Given the description of an element on the screen output the (x, y) to click on. 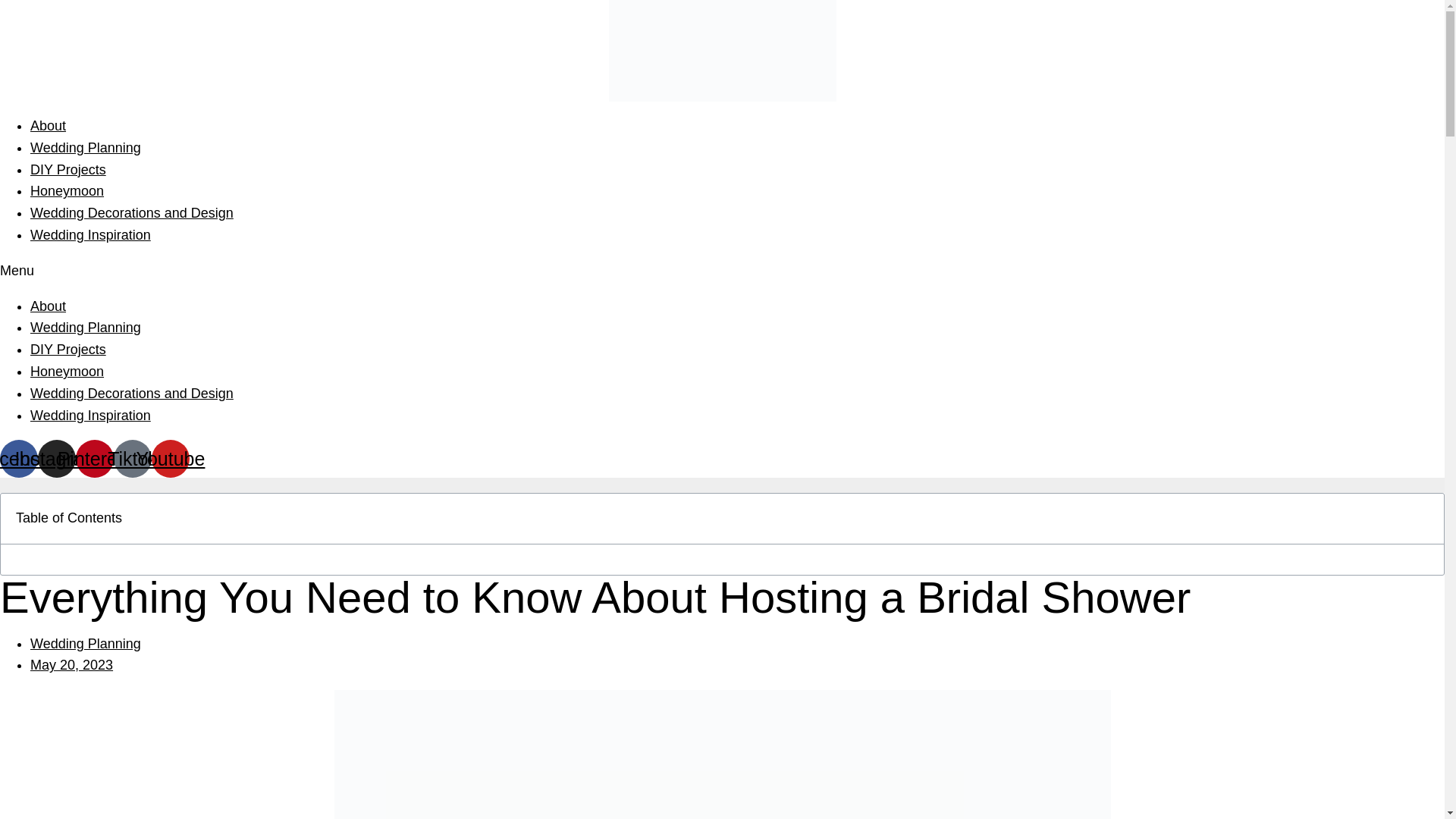
Wedding Decorations and Design (131, 212)
Pinterest (94, 458)
Wedding Decorations and Design (131, 393)
Instagram (56, 458)
Honeymoon (66, 371)
About (47, 305)
About (47, 125)
Wedding Inspiration (90, 234)
Wedding Planning (85, 147)
DIY Projects (68, 349)
Youtube (170, 458)
Wedding Planning (85, 327)
May 20, 2023 (71, 664)
Honeymoon (66, 191)
Facebook (18, 458)
